Given the description of an element on the screen output the (x, y) to click on. 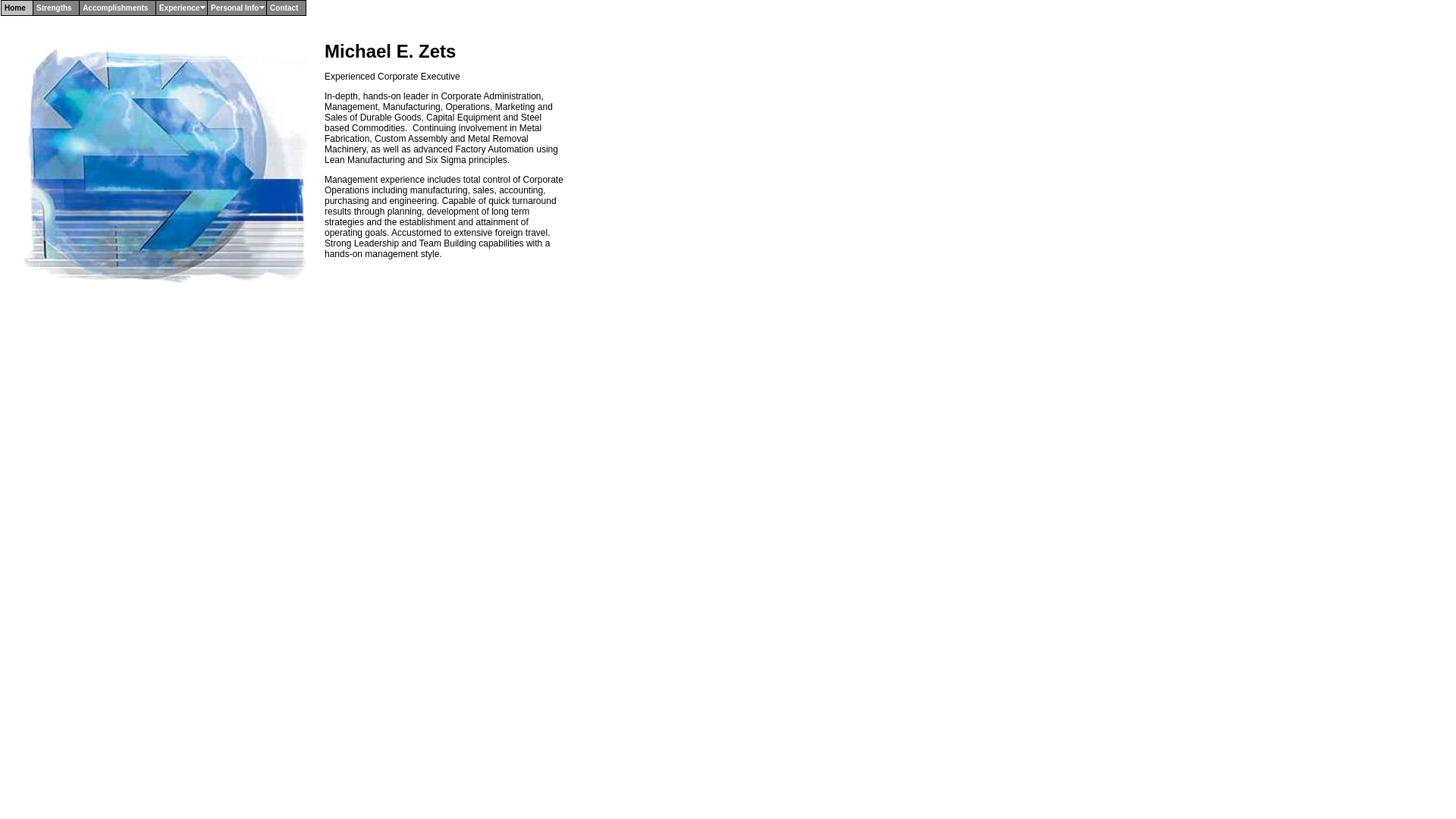
Contact   (285, 7)
Strengths   (55, 7)
Accomplishments   (117, 7)
Home   (16, 7)
